Given the description of an element on the screen output the (x, y) to click on. 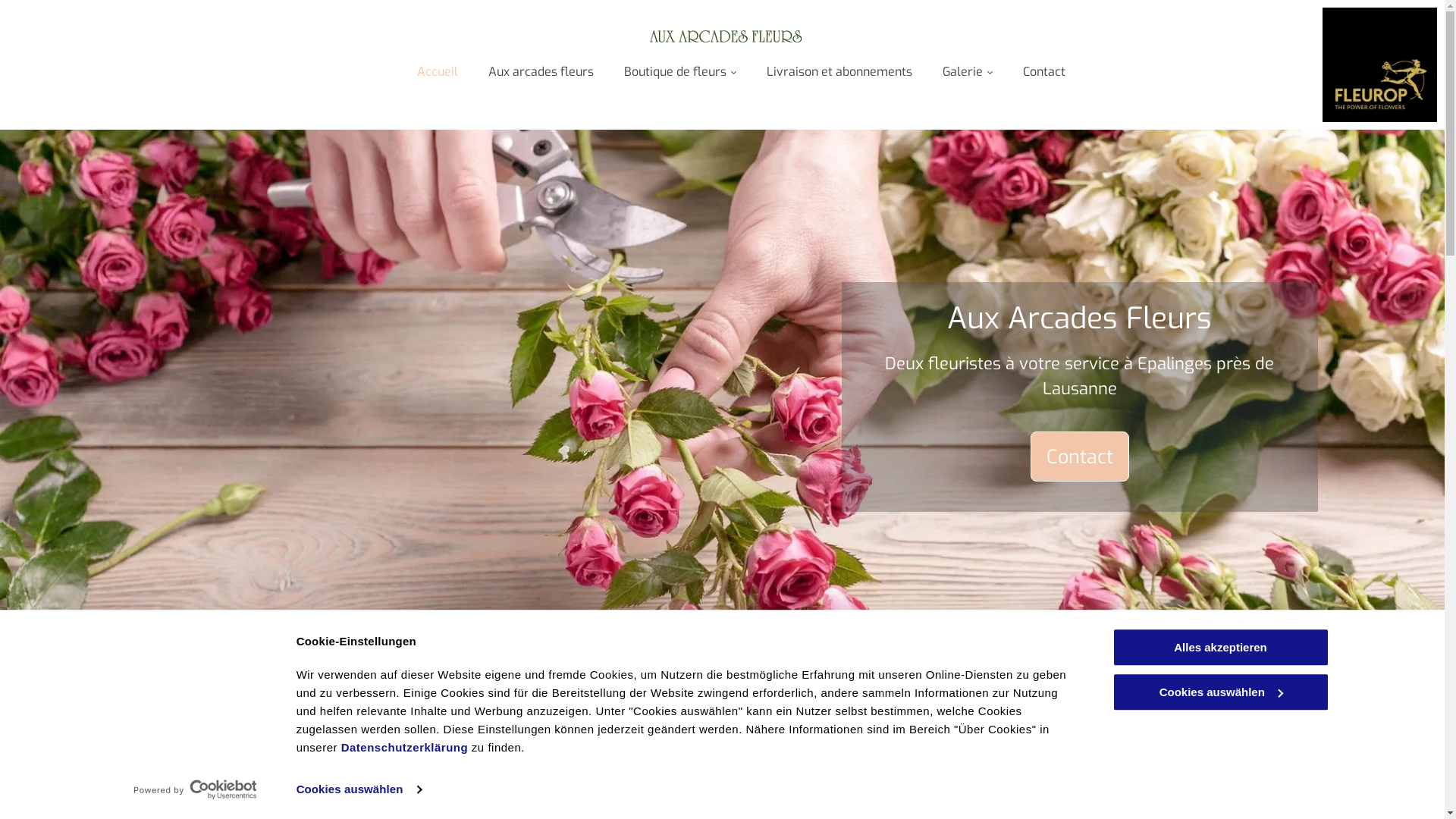
Accueil Element type: text (437, 71)
Livraison et abonnements Element type: text (839, 71)
Contact Element type: text (1043, 71)
Boutique de fleurs Element type: text (680, 71)
Contact Element type: text (1079, 456)
Alles akzeptieren Element type: text (1219, 646)
Aux arcades fleurs Element type: text (540, 71)
Galerie Element type: text (967, 71)
